Given the description of an element on the screen output the (x, y) to click on. 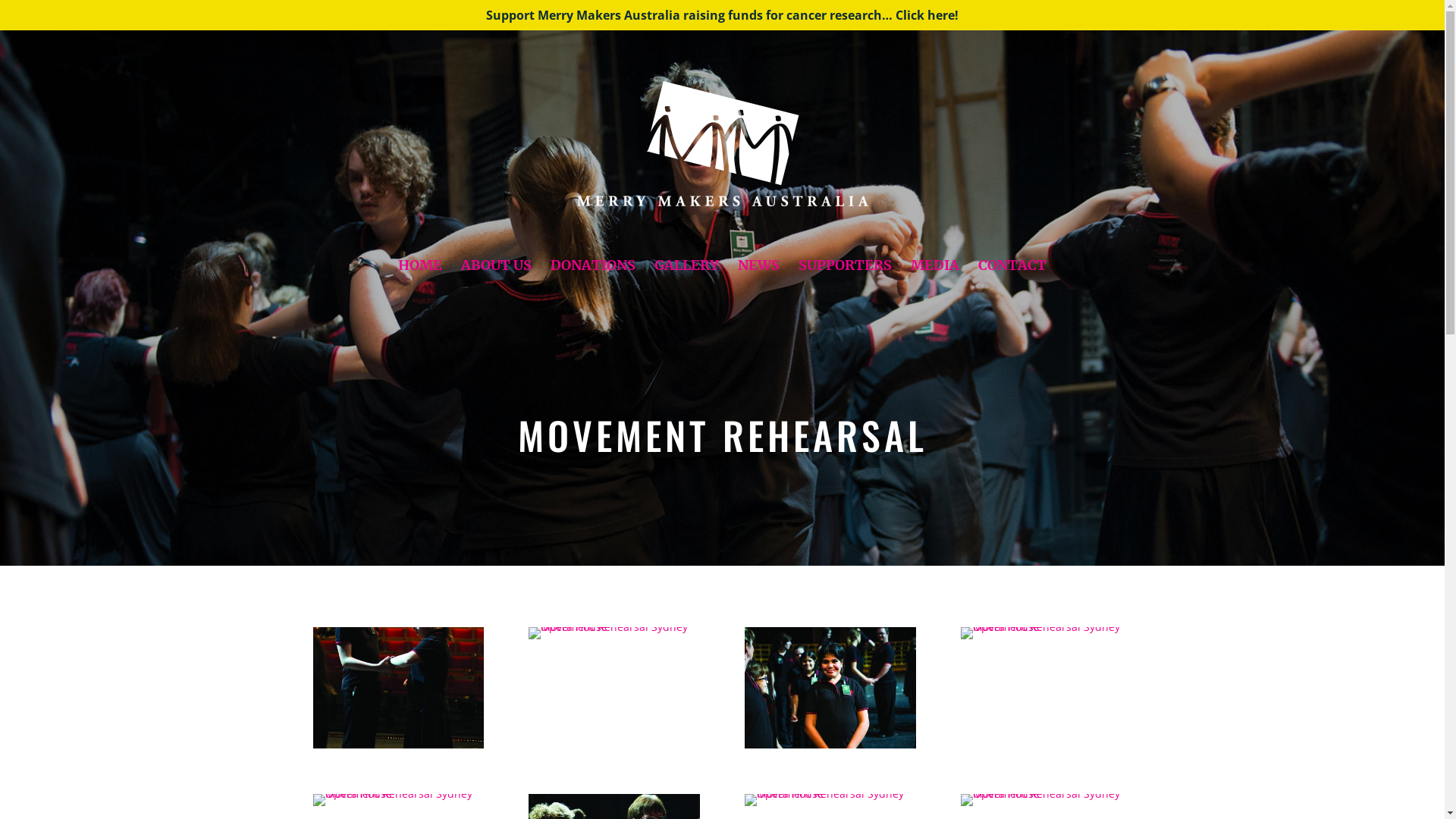
Movement Rehearsal Sydney Opera House Element type: hover (613, 626)
MEDIA Element type: text (934, 285)
HOME Element type: text (420, 285)
GALLERY Element type: text (686, 285)
Movement Rehearsal Sydney Opera House Element type: hover (397, 744)
Movement Rehearsal Sydney Opera House Element type: hover (1045, 793)
NEWS Element type: text (758, 285)
DONATIONS Element type: text (592, 285)
Movement Rehearsal Sydney Opera House Element type: hover (1045, 626)
ABOUT US Element type: text (496, 285)
Movement Rehearsal Sydney Opera House Element type: hover (397, 793)
Movement Rehearsal Sydney Opera House Element type: hover (829, 744)
CONTACT Element type: text (1012, 285)
Movement Rehearsal Sydney Opera House Element type: hover (829, 793)
SUPPORTERS Element type: text (844, 285)
